Given the description of an element on the screen output the (x, y) to click on. 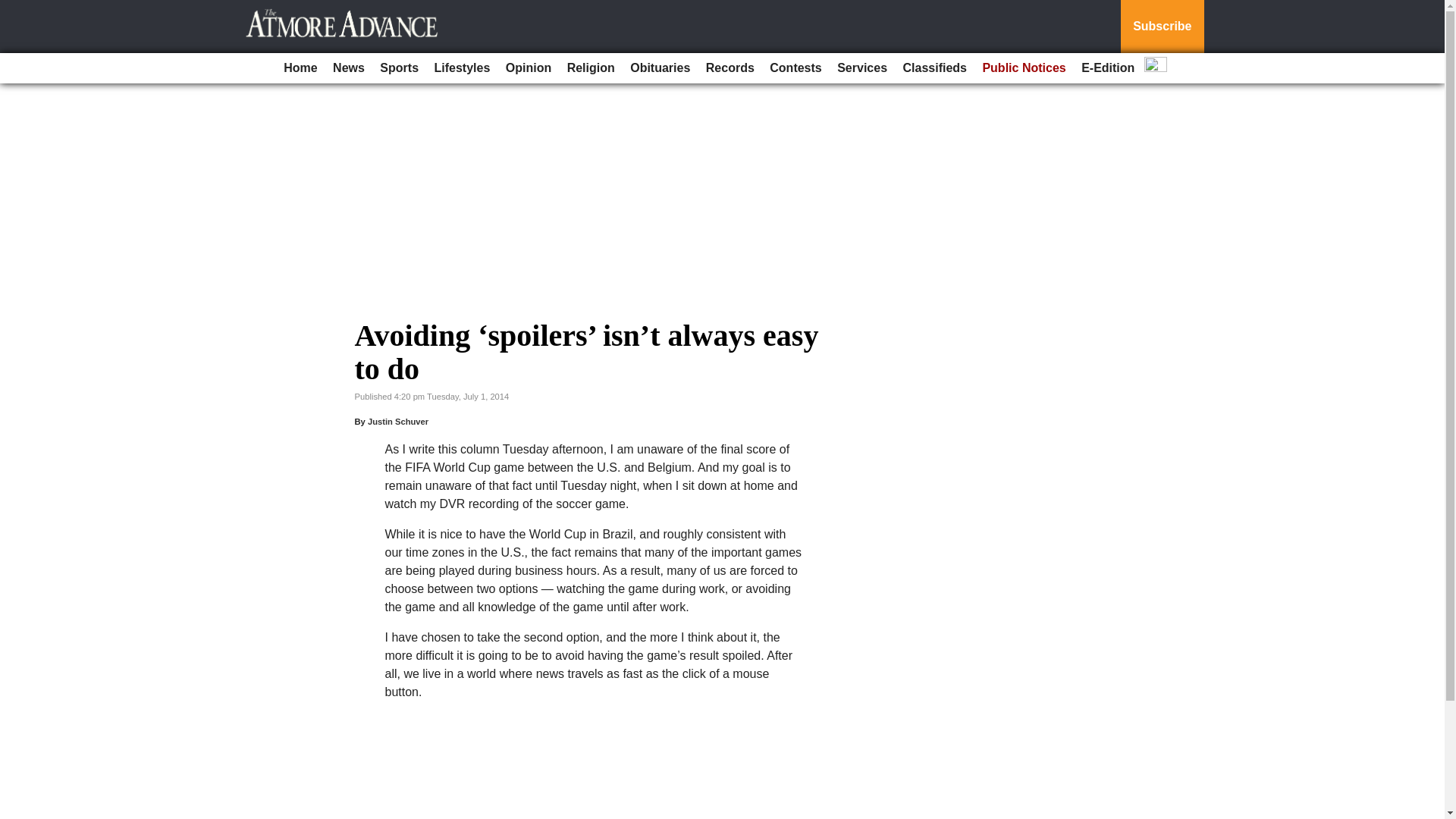
Sports (399, 68)
E-Edition (1107, 68)
Classifieds (934, 68)
Justin Schuver (398, 420)
Contests (794, 68)
Go (13, 9)
Public Notices (1023, 68)
News (348, 68)
Services (862, 68)
Religion (590, 68)
